Given the description of an element on the screen output the (x, y) to click on. 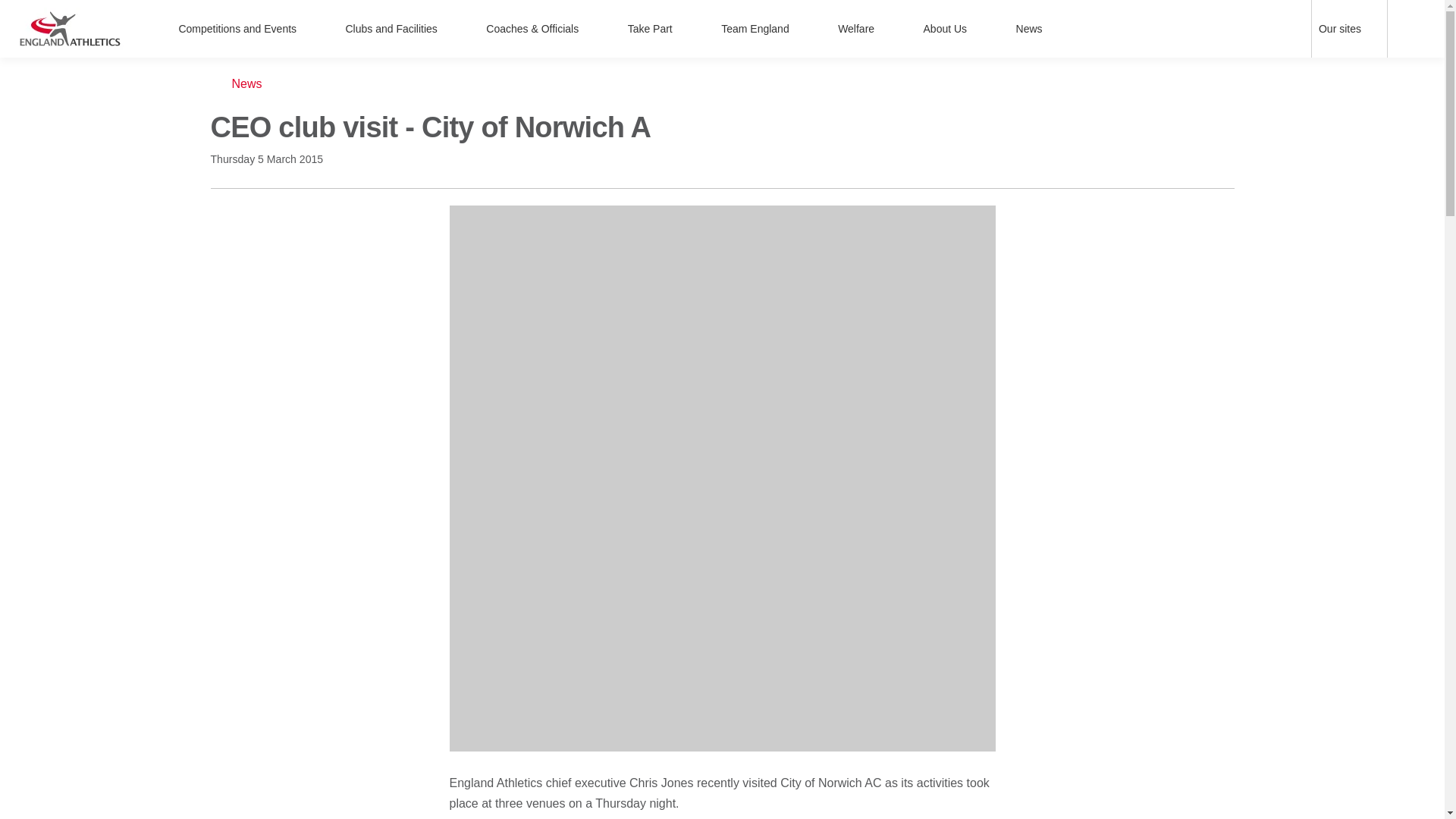
England Athletics (69, 28)
chevron-right (802, 28)
chevron-right (1373, 28)
Clubs and Facilities (400, 28)
Competitions and Events (245, 28)
chevron-right (591, 28)
chevron-right (450, 28)
chevron-right (887, 28)
chevron-right (309, 28)
